Given the description of an element on the screen output the (x, y) to click on. 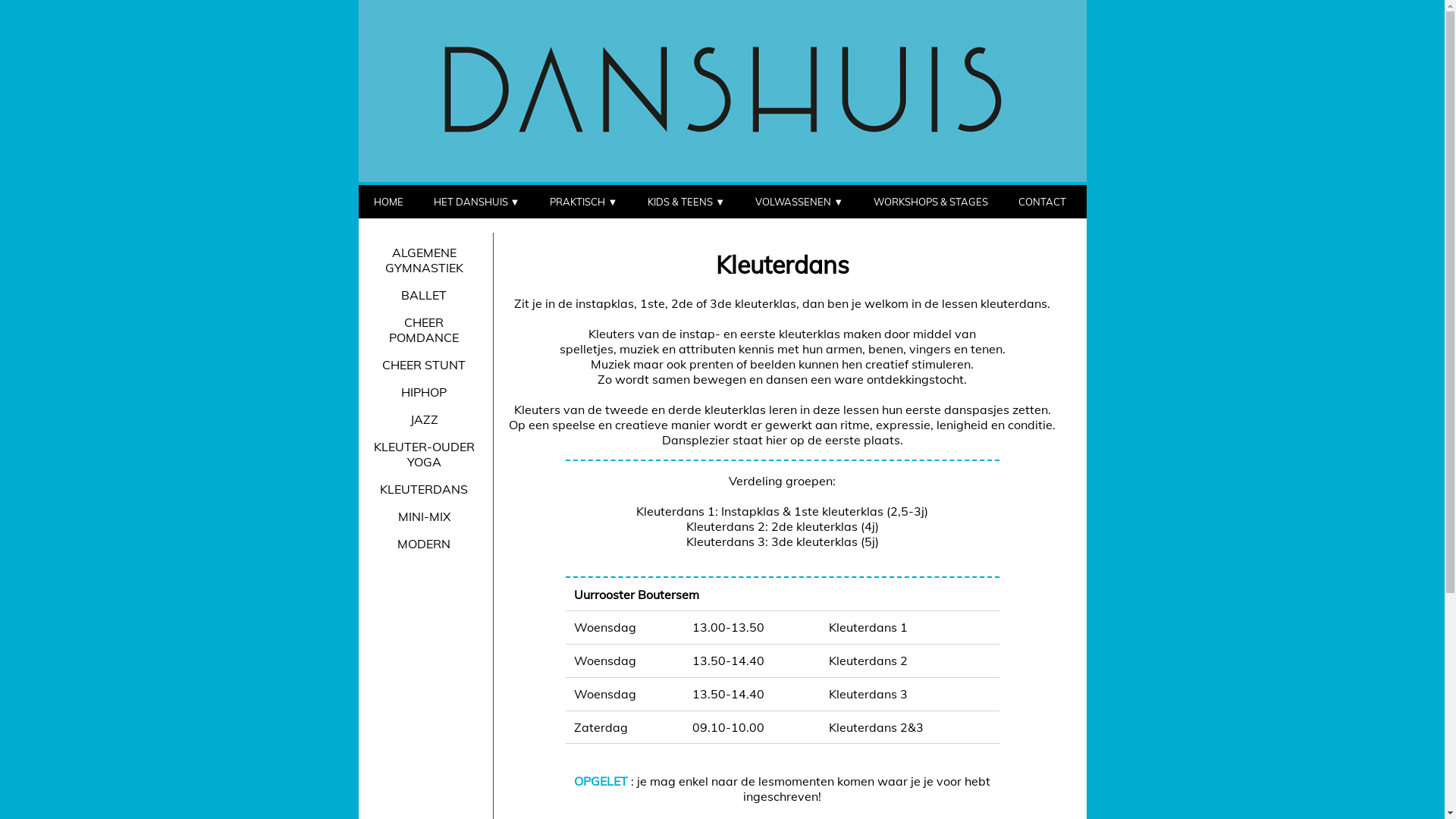
KLEUTER-OUDER YOGA Element type: text (424, 454)
ALGEMENE GYMNASTIEK Element type: text (424, 259)
KLEUTERDANS Element type: text (424, 488)
CHEER POMDANCE Element type: text (424, 329)
MINI-MIX Element type: text (424, 516)
WORKSHOPS & STAGES Element type: text (930, 201)
CONTACT Element type: text (1042, 201)
MODERN Element type: text (424, 543)
CHEER STUNT Element type: text (424, 364)
BALLET Element type: text (424, 294)
HIPHOP Element type: text (424, 391)
JAZZ Element type: text (424, 418)
HOME Element type: text (387, 201)
